Given the description of an element on the screen output the (x, y) to click on. 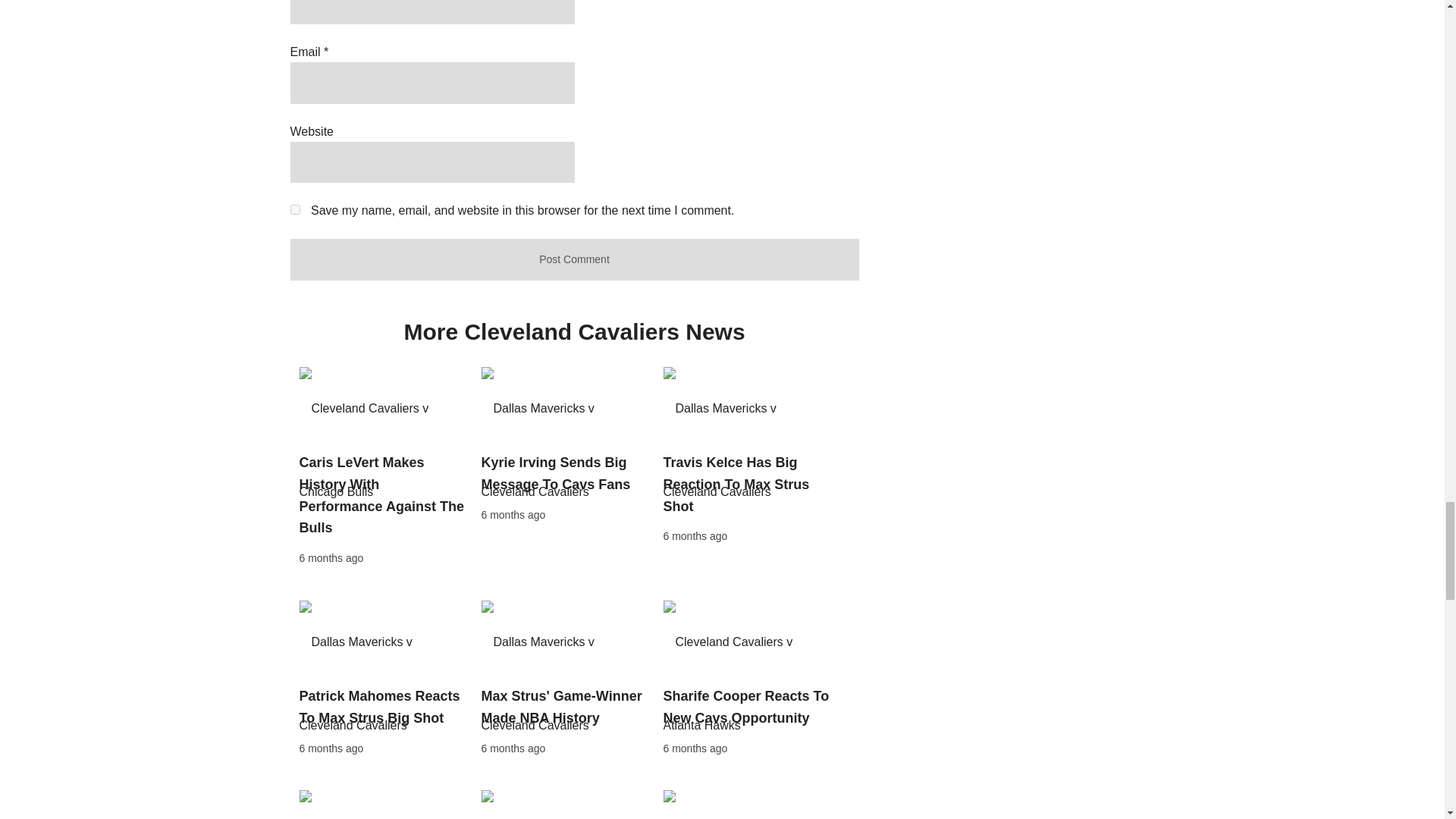
Post Comment (574, 259)
Post Comment (574, 259)
yes (294, 209)
